Given the description of an element on the screen output the (x, y) to click on. 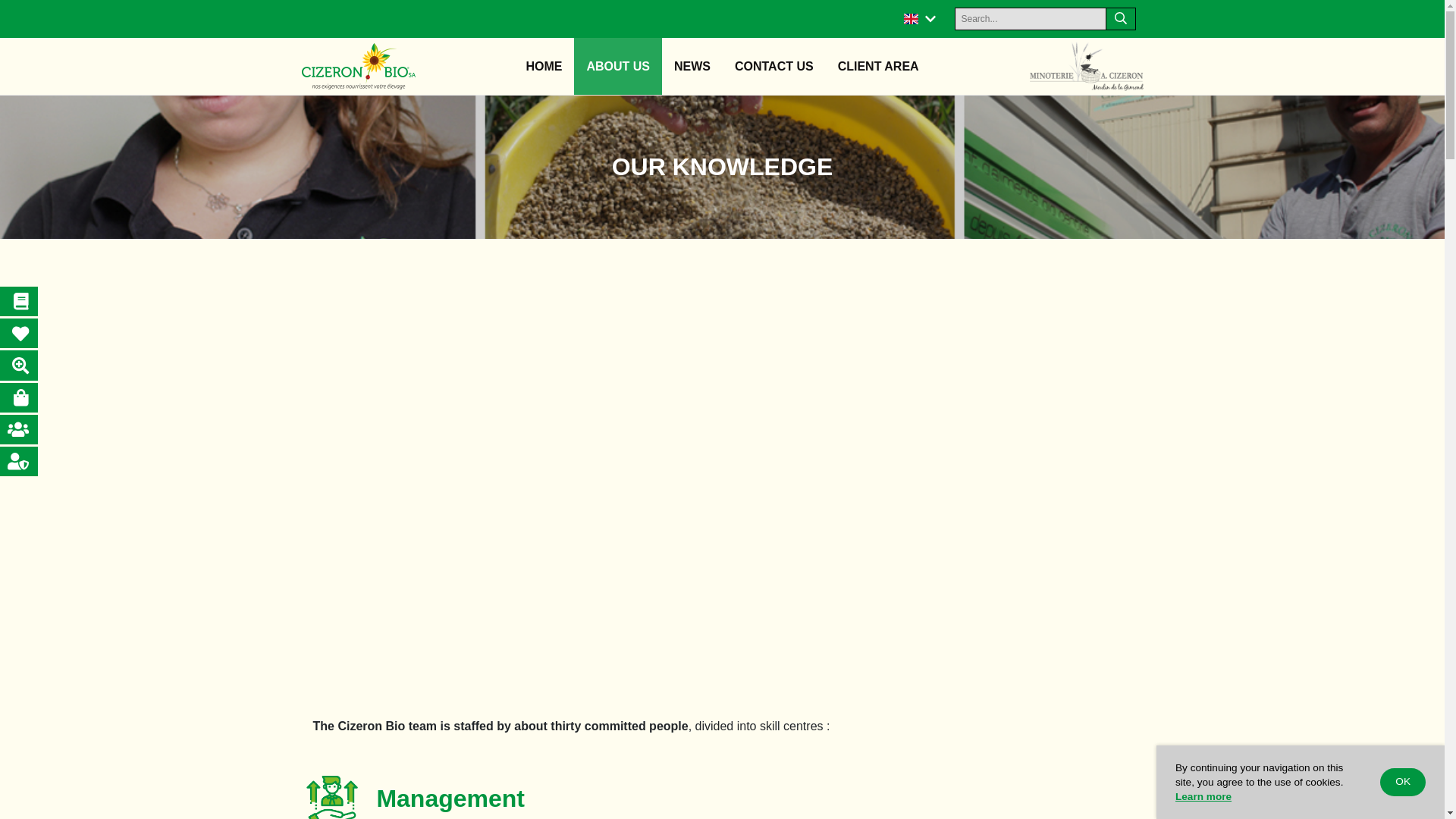
ABOUT US (617, 66)
Client area (878, 66)
Learn more (1202, 796)
Contact us (773, 66)
CLIENT AREA (878, 66)
About us (617, 66)
HOME (543, 66)
NEWS (692, 66)
CONTACT US (773, 66)
News (692, 66)
Home (543, 66)
